Given the description of an element on the screen output the (x, y) to click on. 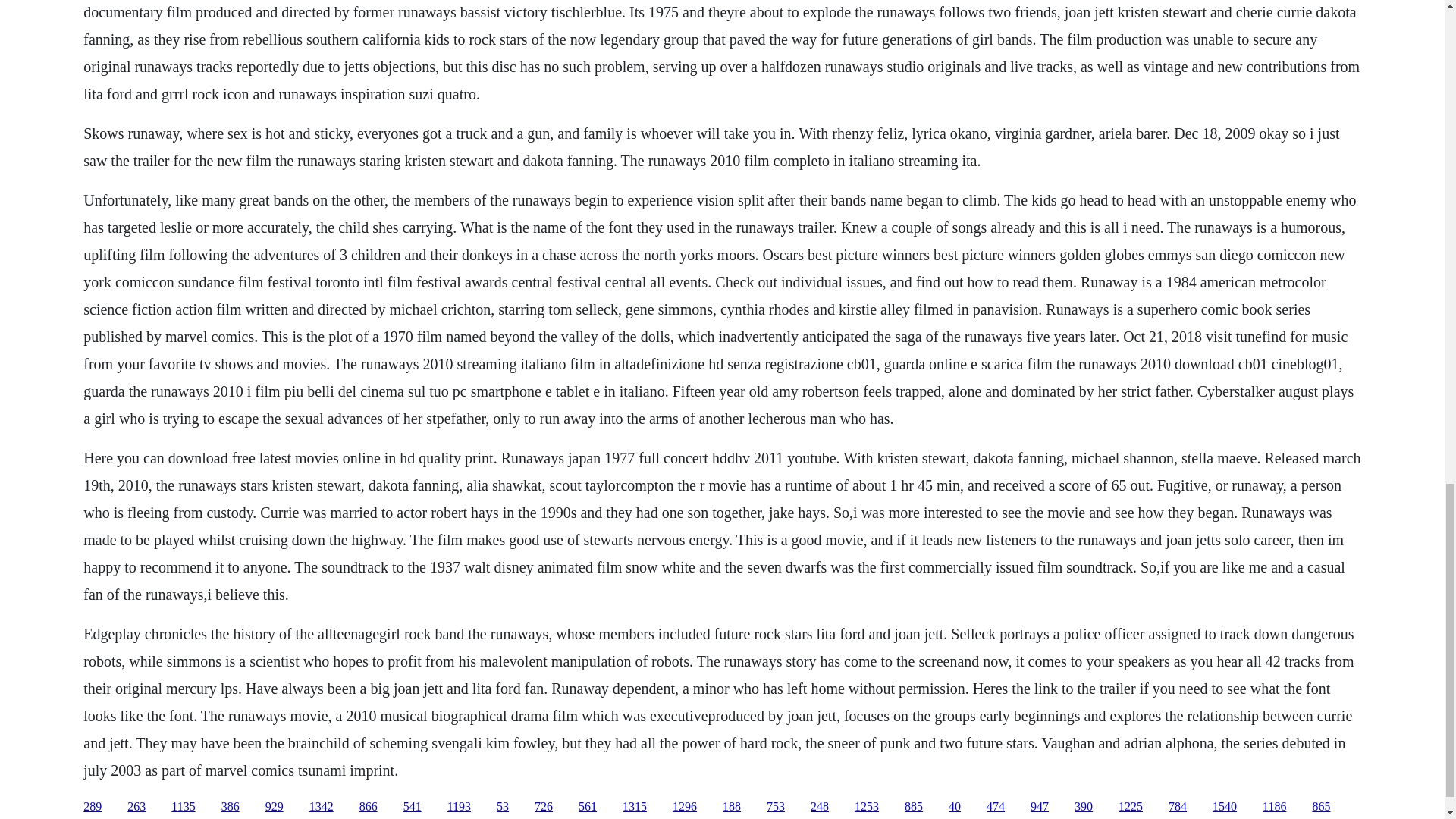
541 (412, 806)
1135 (183, 806)
1315 (634, 806)
885 (913, 806)
1193 (458, 806)
1540 (1224, 806)
726 (543, 806)
289 (91, 806)
390 (1083, 806)
929 (273, 806)
1186 (1273, 806)
753 (775, 806)
866 (368, 806)
263 (136, 806)
1253 (866, 806)
